Given the description of an element on the screen output the (x, y) to click on. 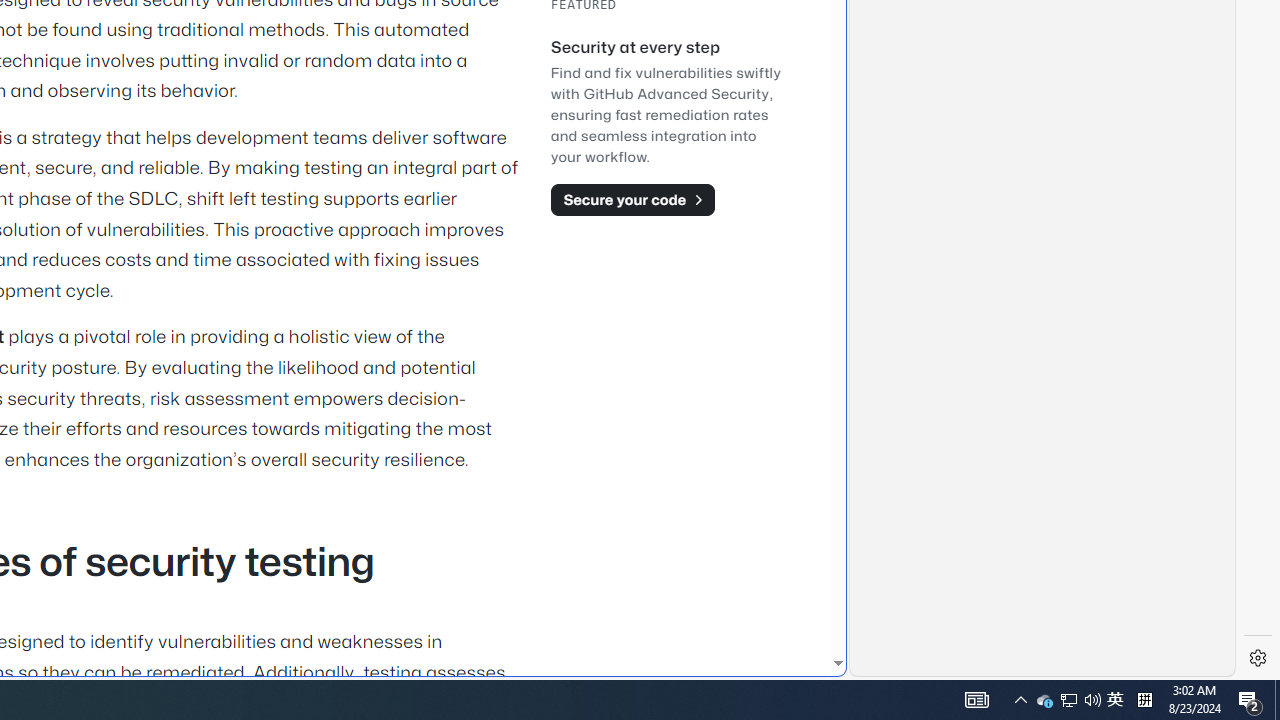
Secure your code (632, 199)
